Given the description of an element on the screen output the (x, y) to click on. 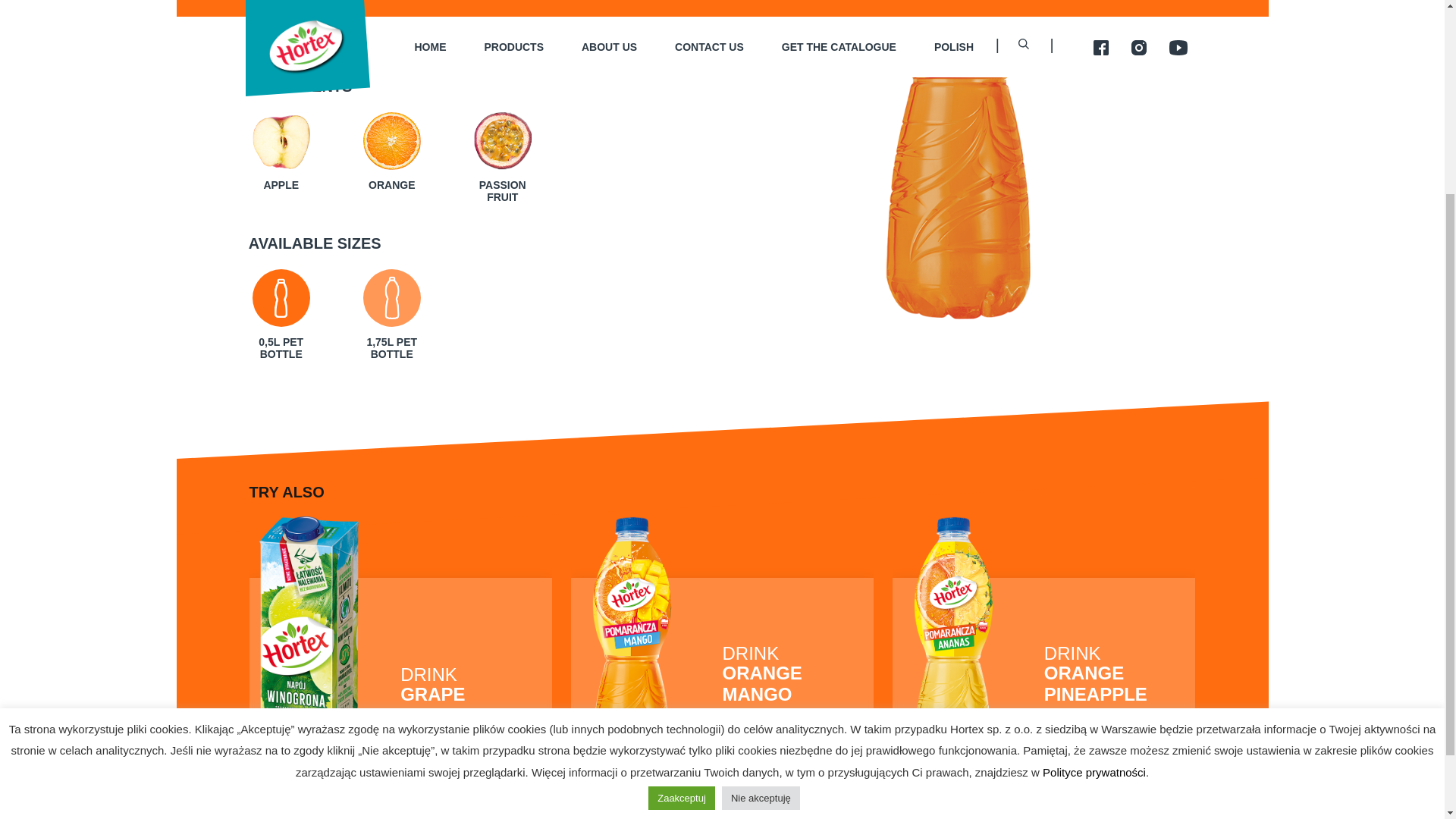
PRODUCTS (1043, 618)
POLISH (499, 799)
Zaakceptuj (1056, 799)
CONTACT US (399, 618)
ABOUT US (680, 530)
GET THE CATALOGUE (721, 618)
HOME (750, 799)
